Given the description of an element on the screen output the (x, y) to click on. 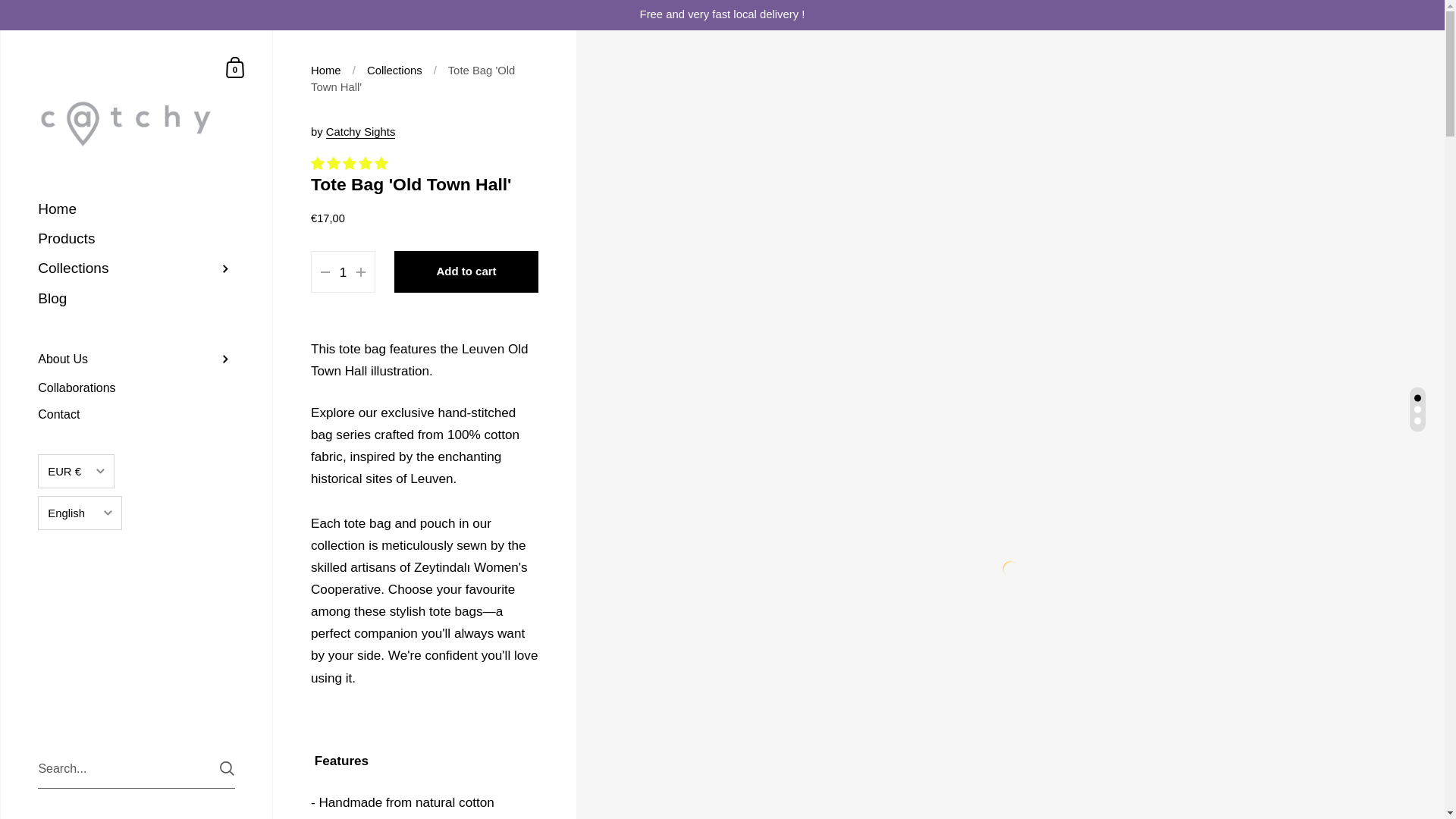
Collections (136, 268)
Products (136, 238)
Contact (136, 414)
Shopping Cart (235, 66)
1 (342, 272)
Catchy Sights (361, 132)
Blog (136, 298)
es (79, 573)
Catchy Sights (361, 132)
fr (79, 603)
